Given the description of an element on the screen output the (x, y) to click on. 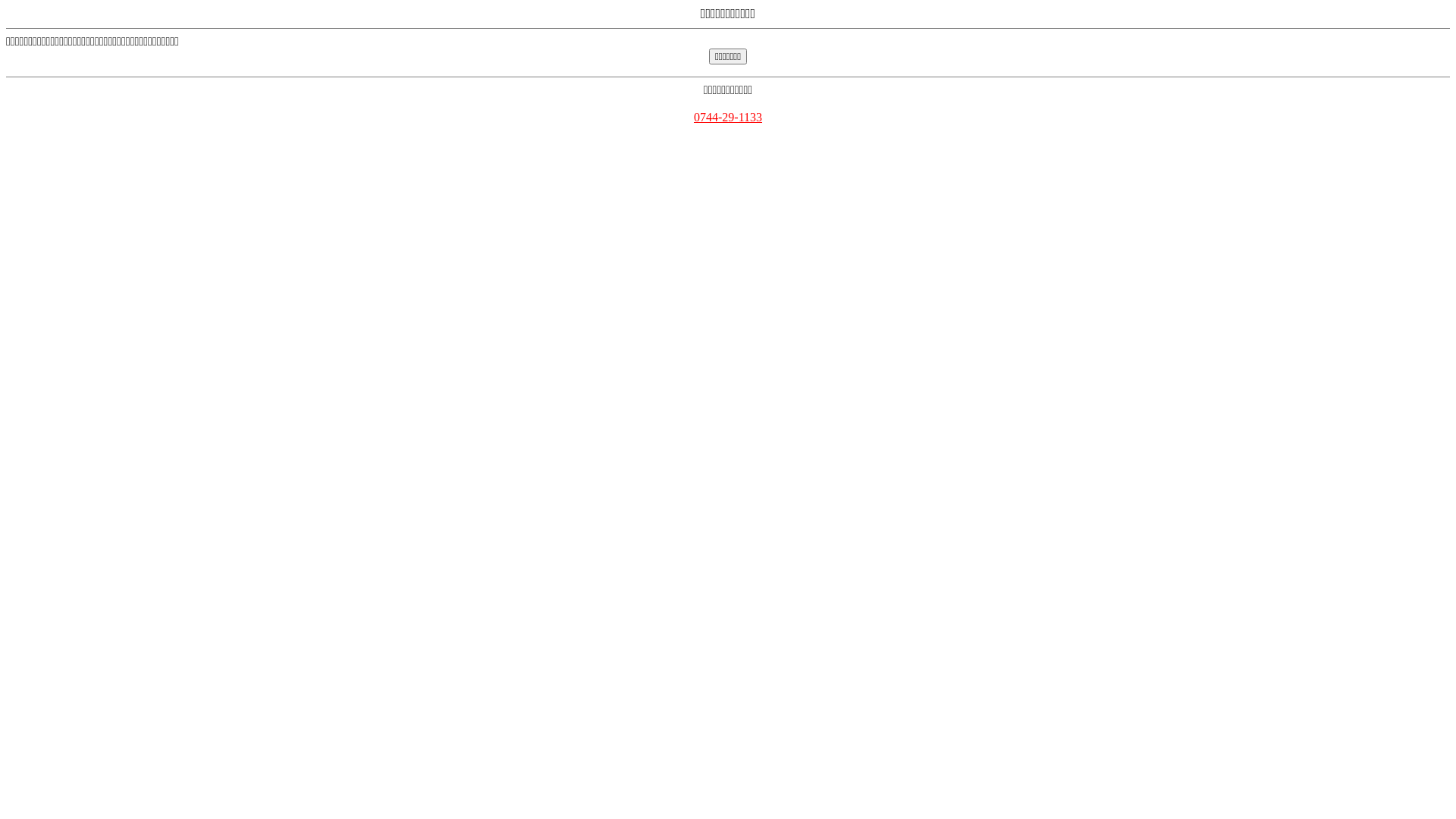
0744-29-1133 Element type: text (727, 116)
